Given the description of an element on the screen output the (x, y) to click on. 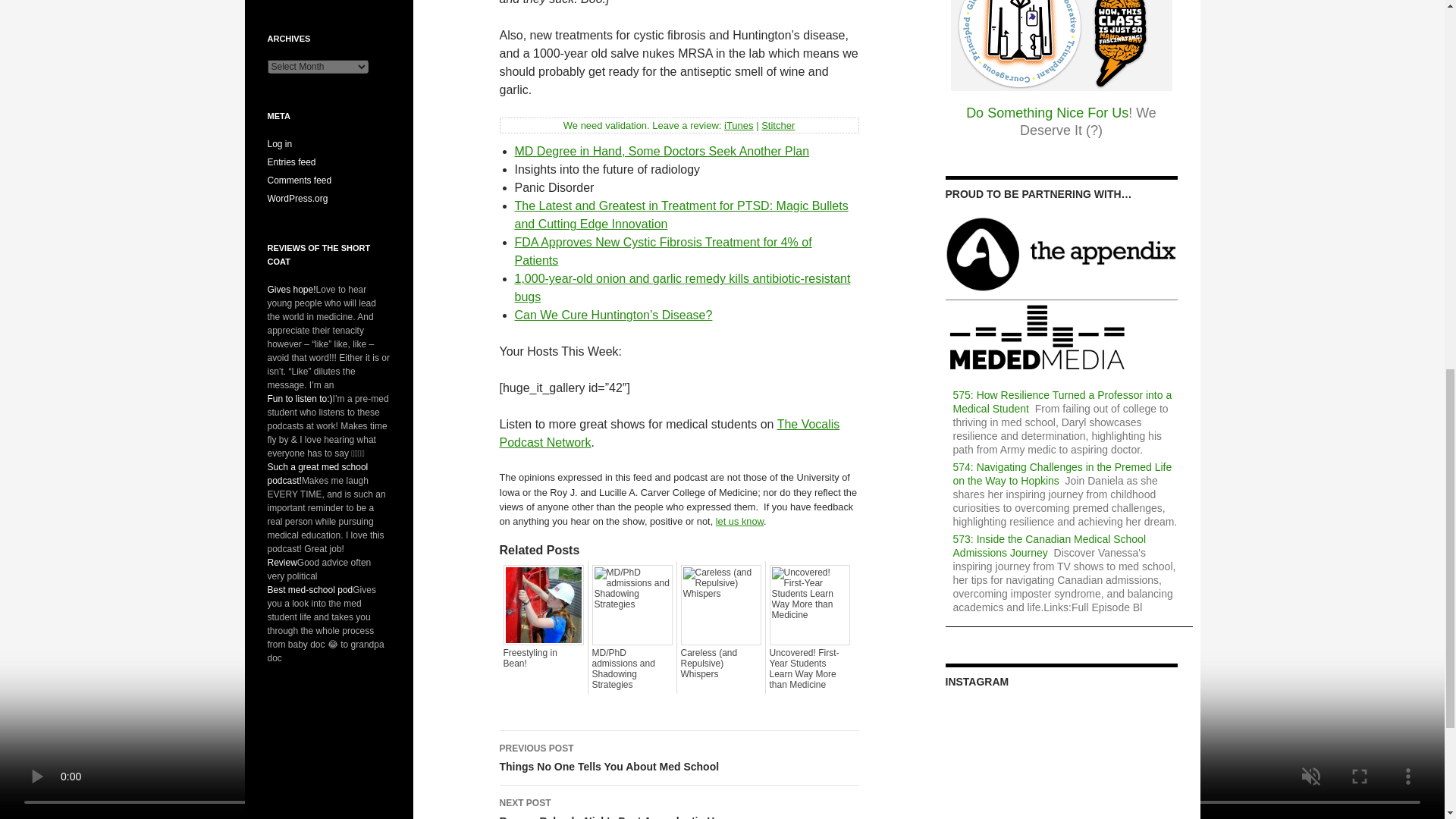
Talk to Us! (739, 521)
let us know (739, 521)
The Vocalis Podcast Network (669, 432)
iTunes (738, 125)
Freestyling in Bean! (543, 658)
Review The Short Coat Podcast on Stitcher (777, 125)
Stitcher (777, 125)
MD Degree in Hand, Some Doctors Seek Another Plan (661, 151)
